Given the description of an element on the screen output the (x, y) to click on. 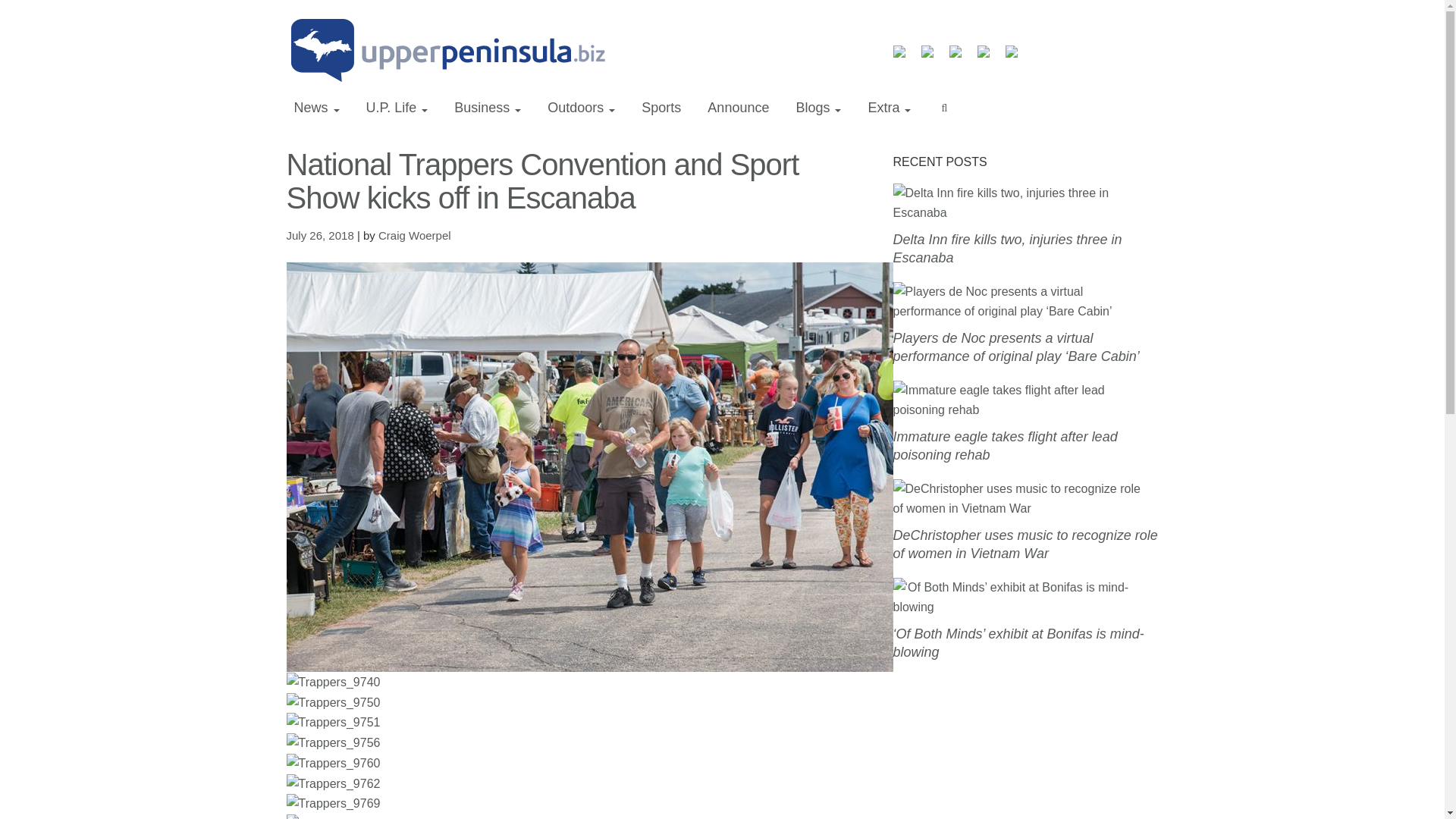
U.P. Life (396, 107)
Follow us on Twitter (932, 57)
Follow us on Facebook (905, 57)
Business (487, 107)
Find us on YouTube (988, 57)
News (316, 107)
Subscribe to our RSS Feed (961, 57)
Contact Us (1017, 57)
